Given the description of an element on the screen output the (x, y) to click on. 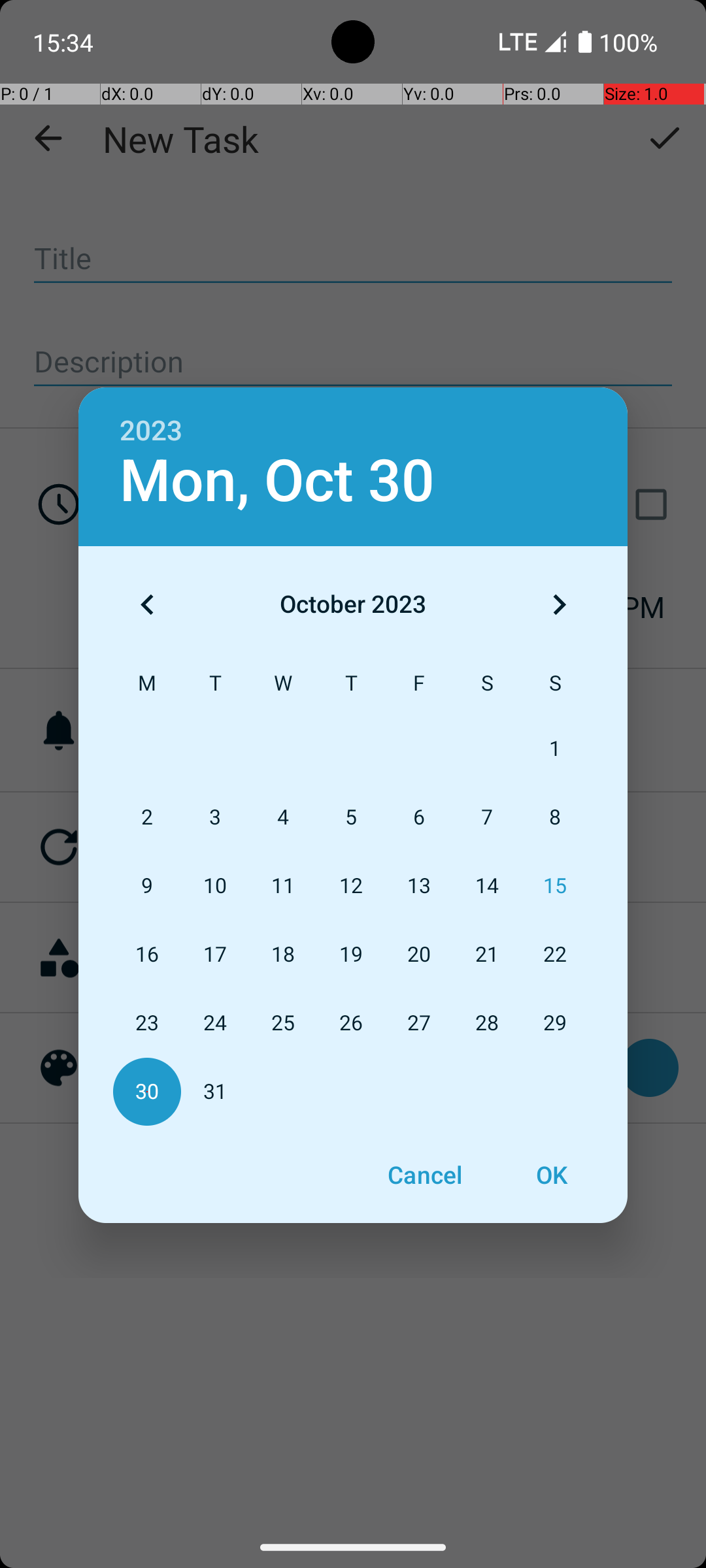
Mon, Oct 30 Element type: android.widget.TextView (276, 480)
